Given the description of an element on the screen output the (x, y) to click on. 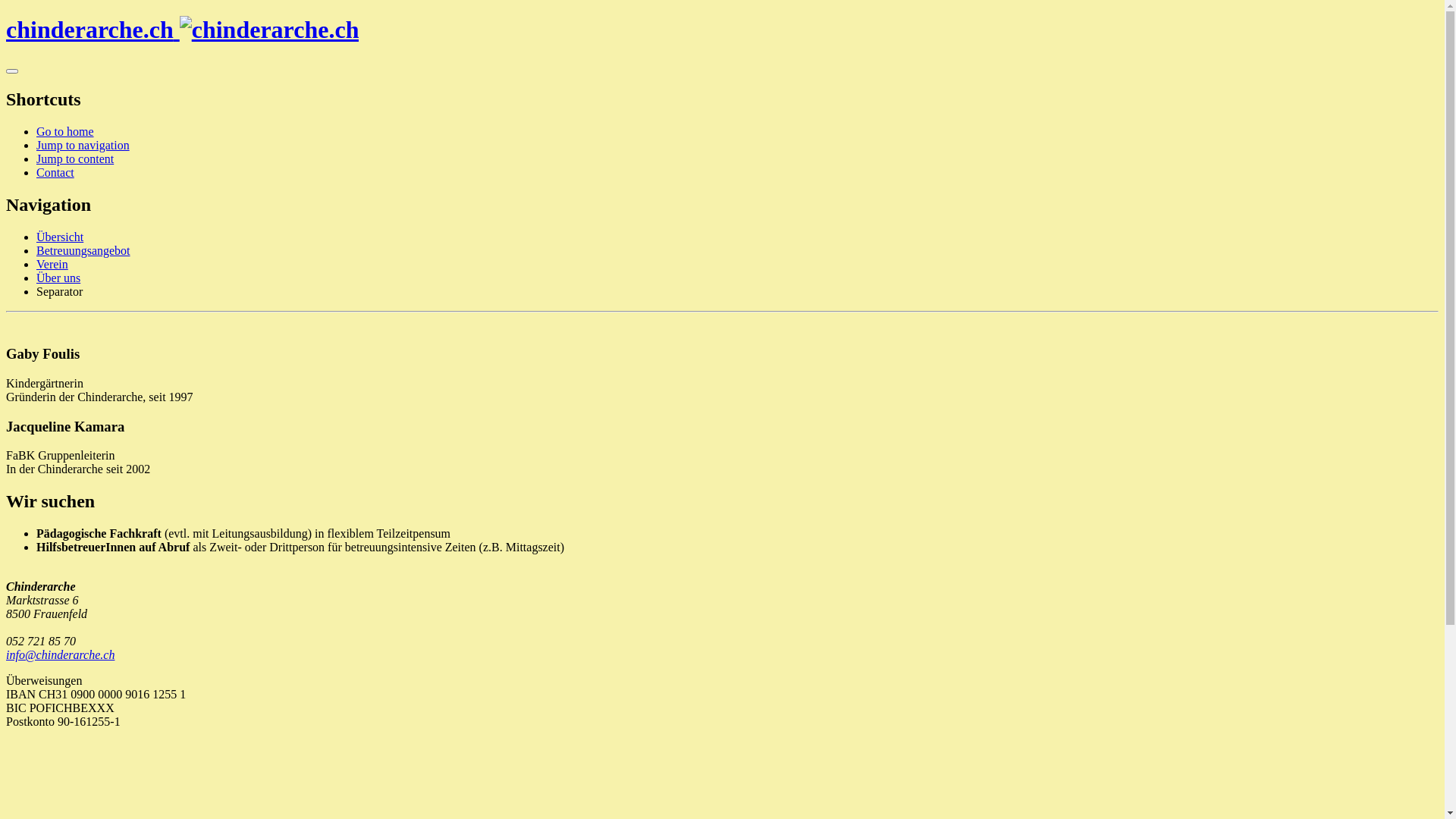
Jump to content Element type: text (74, 158)
Betreuungsangebot Element type: text (83, 250)
Go to home Element type: text (65, 131)
chinderarche.ch Element type: text (182, 29)
Contact Element type: text (55, 172)
Verein Element type: text (52, 263)
Jump to navigation Element type: text (82, 144)
info@chinderarche.ch Element type: text (60, 654)
